Given the description of an element on the screen output the (x, y) to click on. 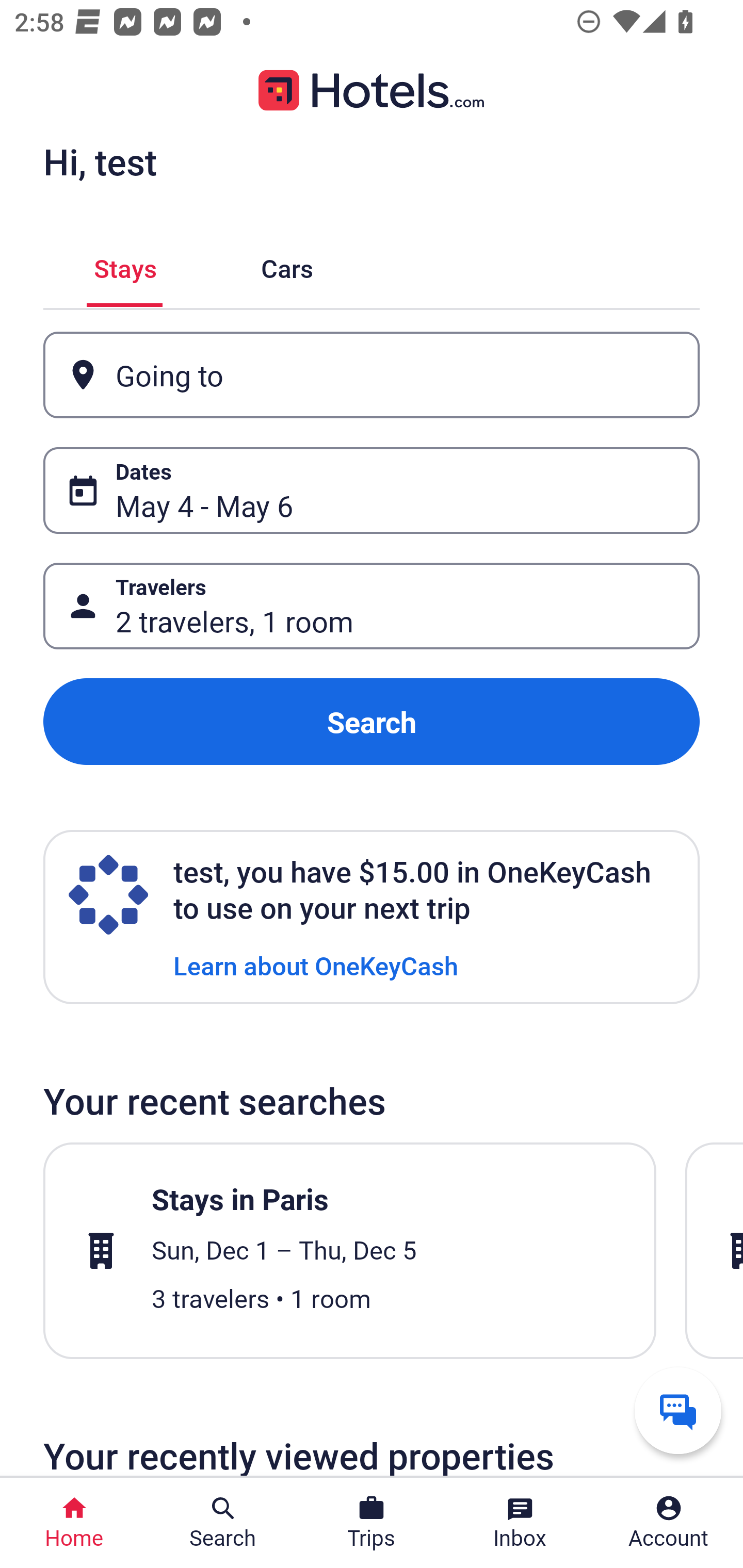
Hi, test (99, 161)
Cars (286, 265)
Going to Button (371, 375)
Dates Button May 4 - May 6 (371, 489)
Travelers Button 2 travelers, 1 room (371, 605)
Search (371, 721)
Learn about OneKeyCash Learn about OneKeyCash Link (315, 964)
Get help from a virtual agent (677, 1410)
Search Search Button (222, 1522)
Trips Trips Button (371, 1522)
Inbox Inbox Button (519, 1522)
Account Profile. Button (668, 1522)
